Given the description of an element on the screen output the (x, y) to click on. 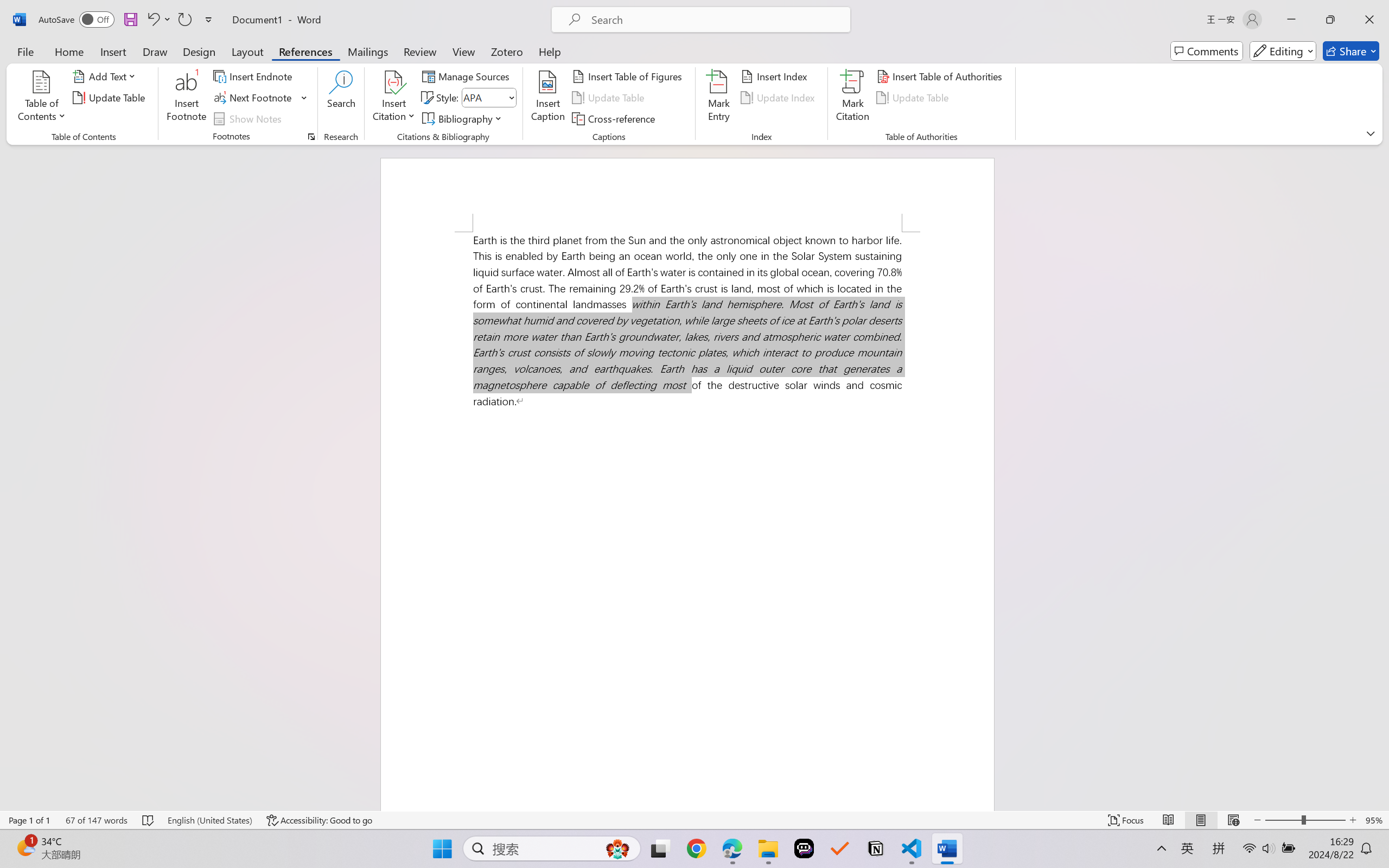
Zoom 95% (1374, 819)
